Given the description of an element on the screen output the (x, y) to click on. 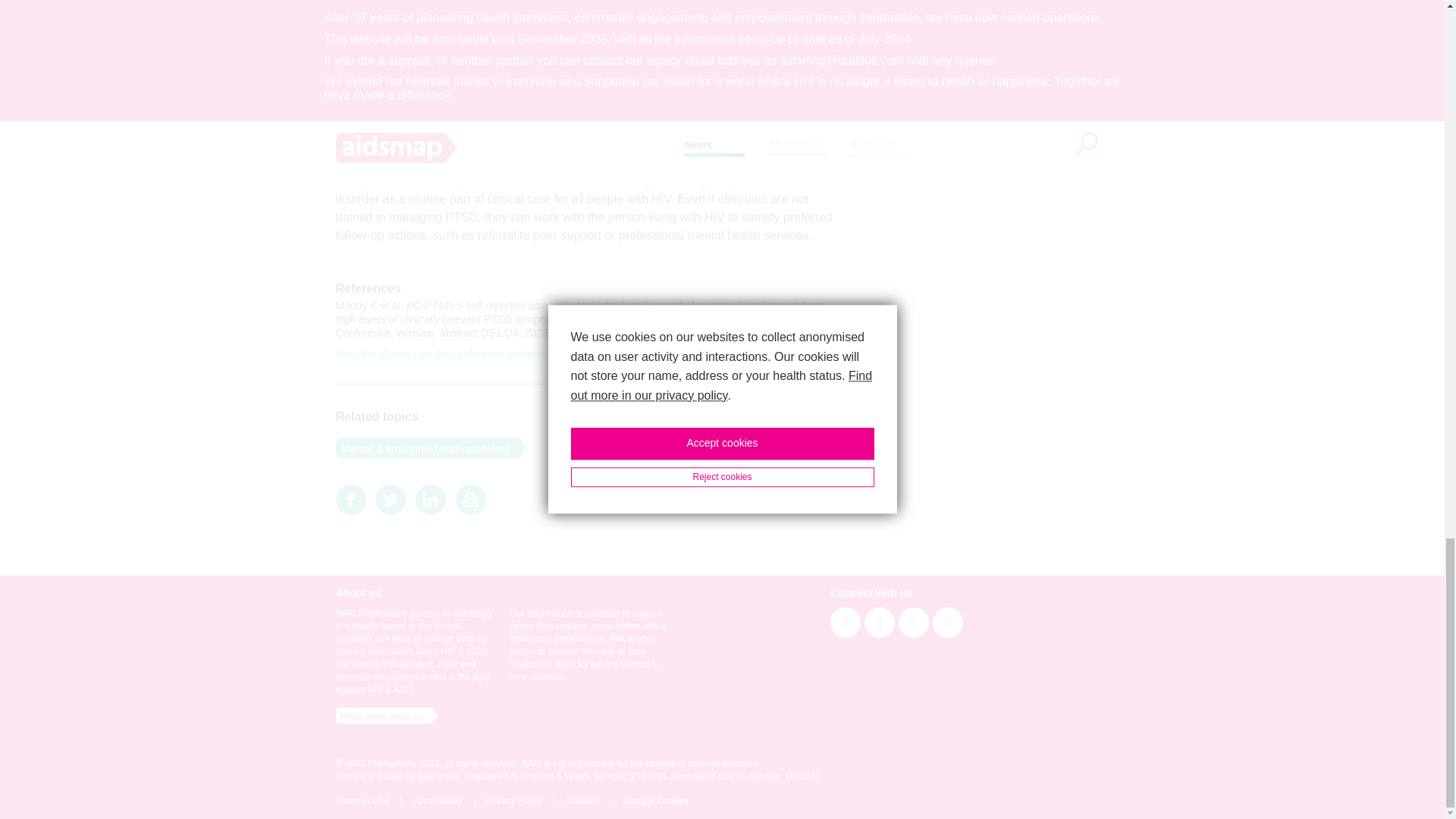
Print (470, 499)
View the abstract on the conference website. (440, 354)
Twitter (390, 499)
More news from EACS 2023 (765, 97)
Facebook (349, 499)
LinkedIn (429, 499)
